Given the description of an element on the screen output the (x, y) to click on. 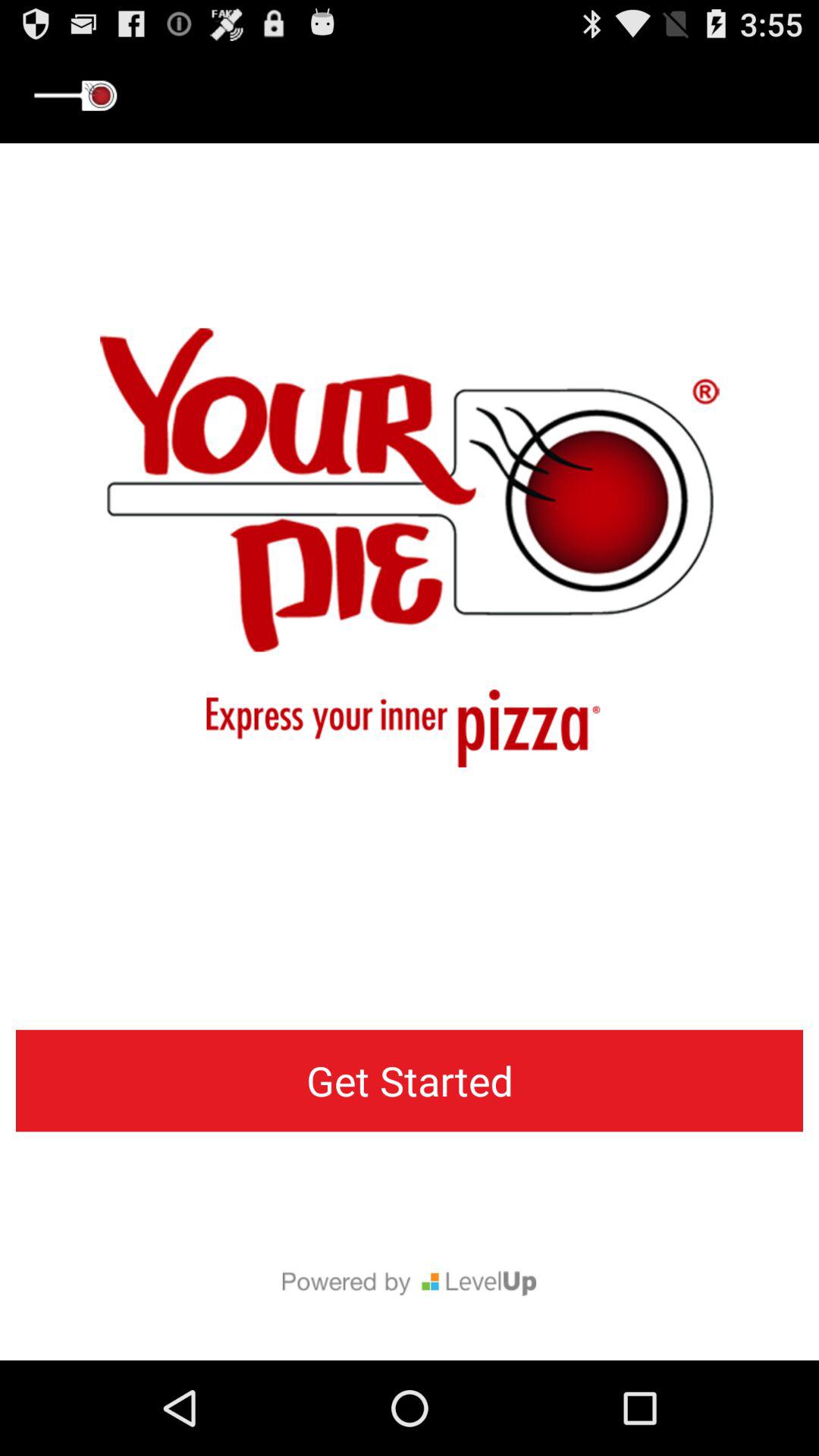
flip to get started item (409, 1080)
